Given the description of an element on the screen output the (x, y) to click on. 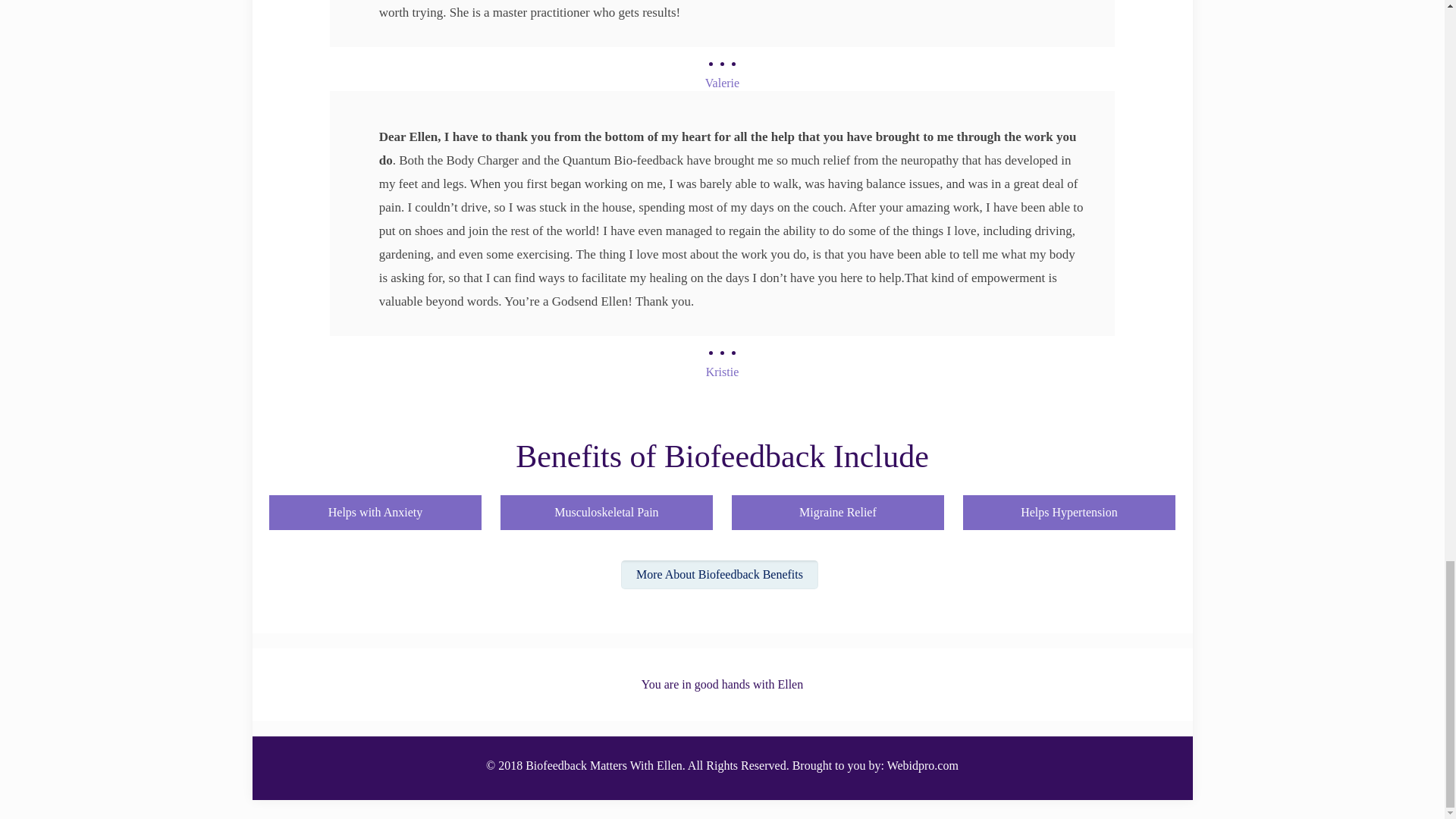
Musculoskeletal Pain (606, 510)
Helps with Anxiety (375, 510)
Webidpro.com (922, 765)
Helps Hypertension (1069, 510)
More About Biofeedback Benefits (719, 574)
Migraine Relief (838, 510)
